Given the description of an element on the screen output the (x, y) to click on. 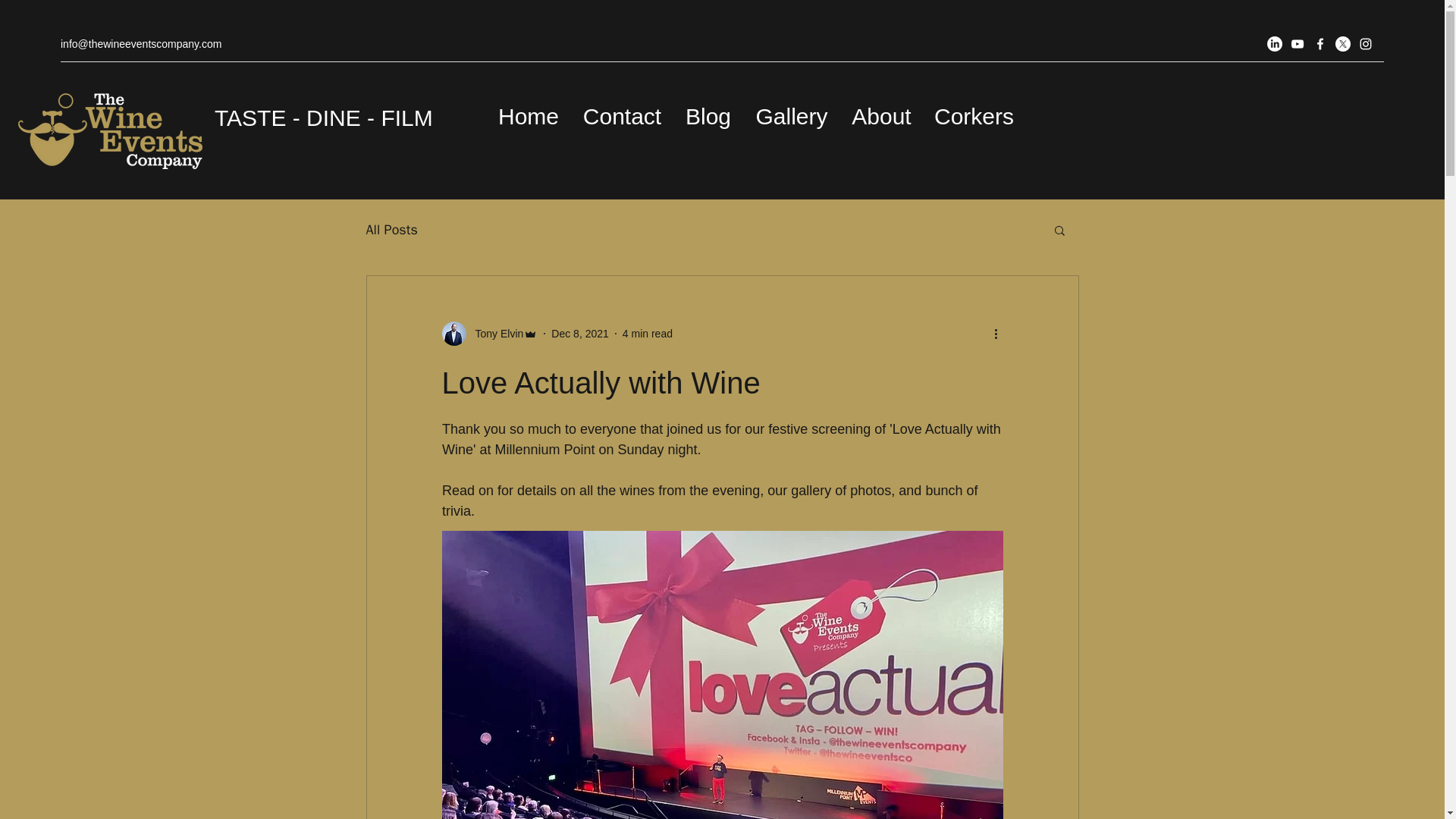
About (881, 116)
Home (528, 116)
Tony Elvin (493, 333)
Corkers (974, 116)
All Posts (390, 229)
4 min read (647, 333)
Blog (707, 116)
Contact (621, 116)
Gallery (791, 116)
Dec 8, 2021 (579, 333)
